Given the description of an element on the screen output the (x, y) to click on. 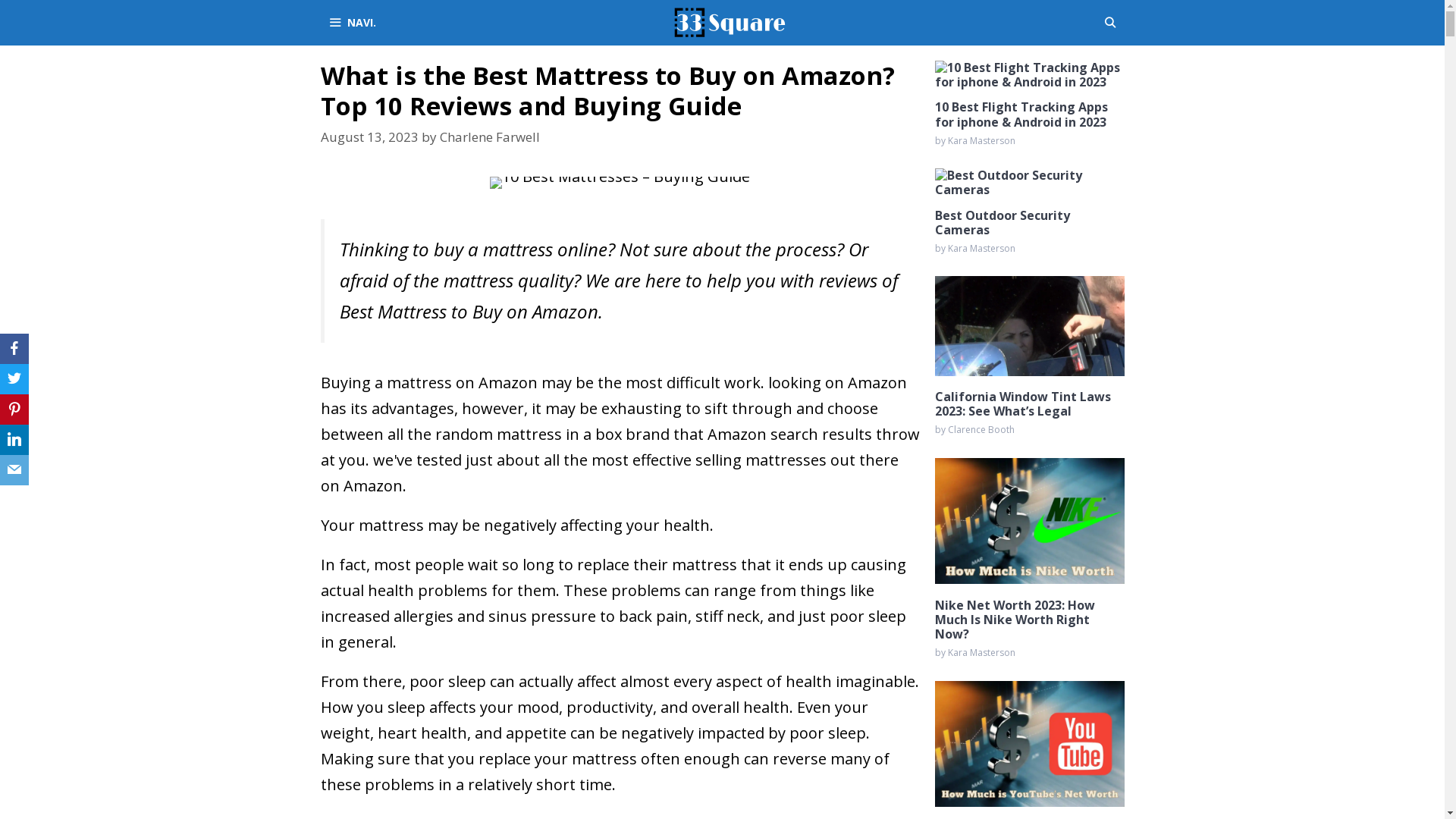
Charlene Farwell Element type: text (489, 136)
33rd Square Element type: hover (730, 22)
Best Outdoor Security Cameras
by Kara Masterson Element type: text (1028, 211)
NAVI. Element type: text (351, 22)
